Given the description of an element on the screen output the (x, y) to click on. 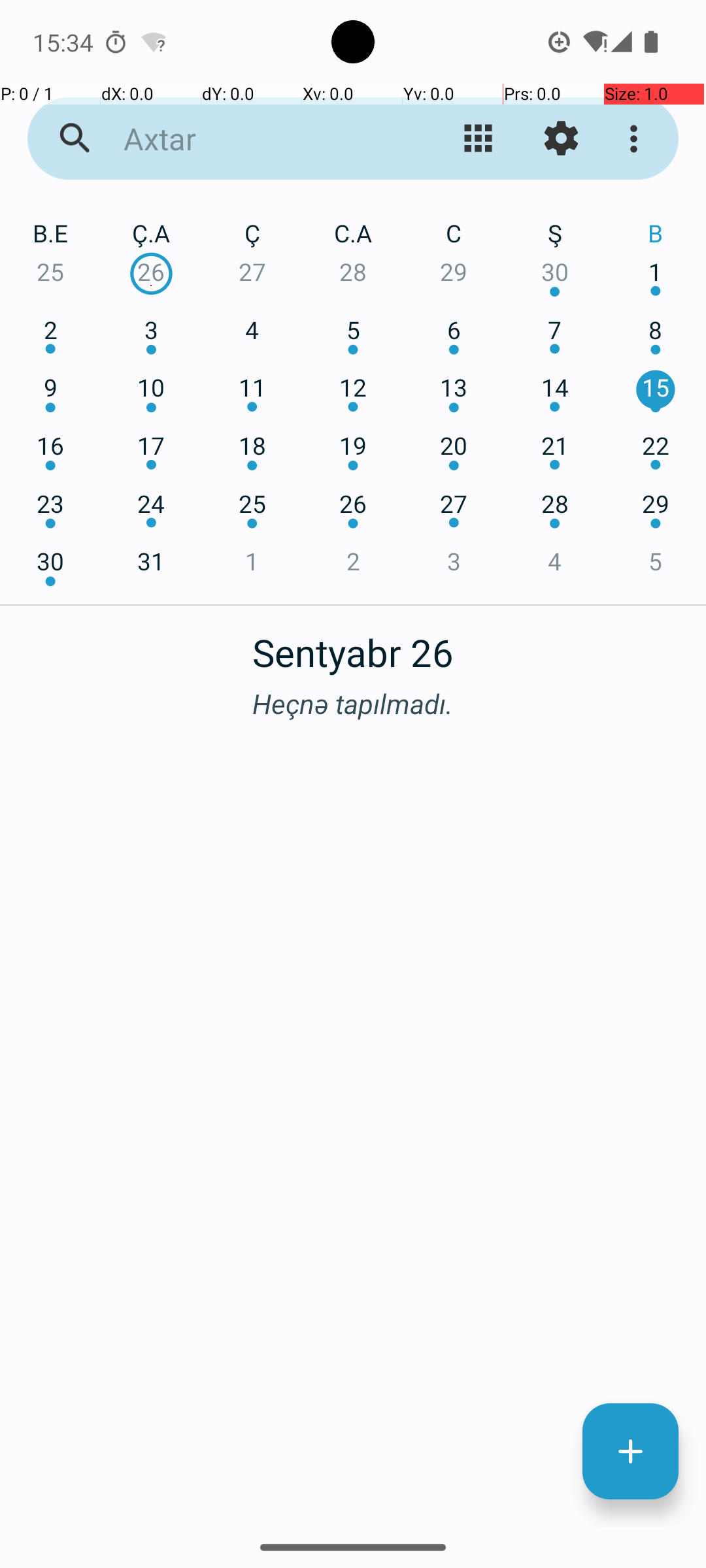
Sentyabr 26 Element type: android.widget.TextView (352, 644)
Heçnə tapılmadı. Element type: android.widget.TextView (352, 702)
